Given the description of an element on the screen output the (x, y) to click on. 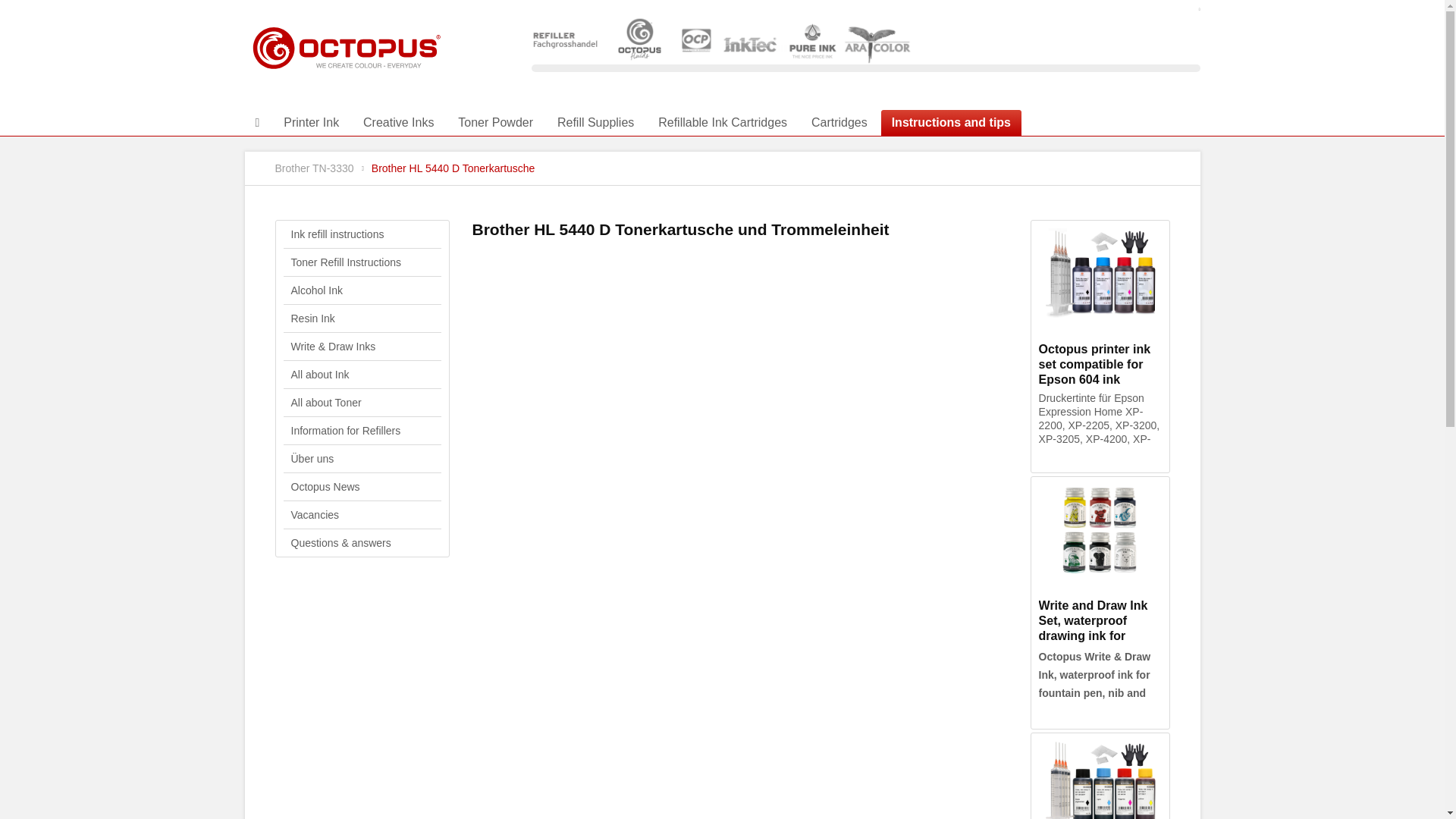
Creative Inks (398, 122)
Home (256, 122)
Toner Powder (494, 122)
Octopus Office - Switch to homepage (346, 64)
Instructions and tips (951, 122)
Cartridges (838, 122)
Refillable Ink Cartridges (722, 122)
Instructions and tips (951, 122)
Refill Supplies (596, 122)
Toner Powder (494, 122)
Refillable Ink Cartridges (722, 122)
0 (256, 122)
Cartridges (838, 122)
Printer Ink (311, 122)
Creative Inks (398, 122)
